Given the description of an element on the screen output the (x, y) to click on. 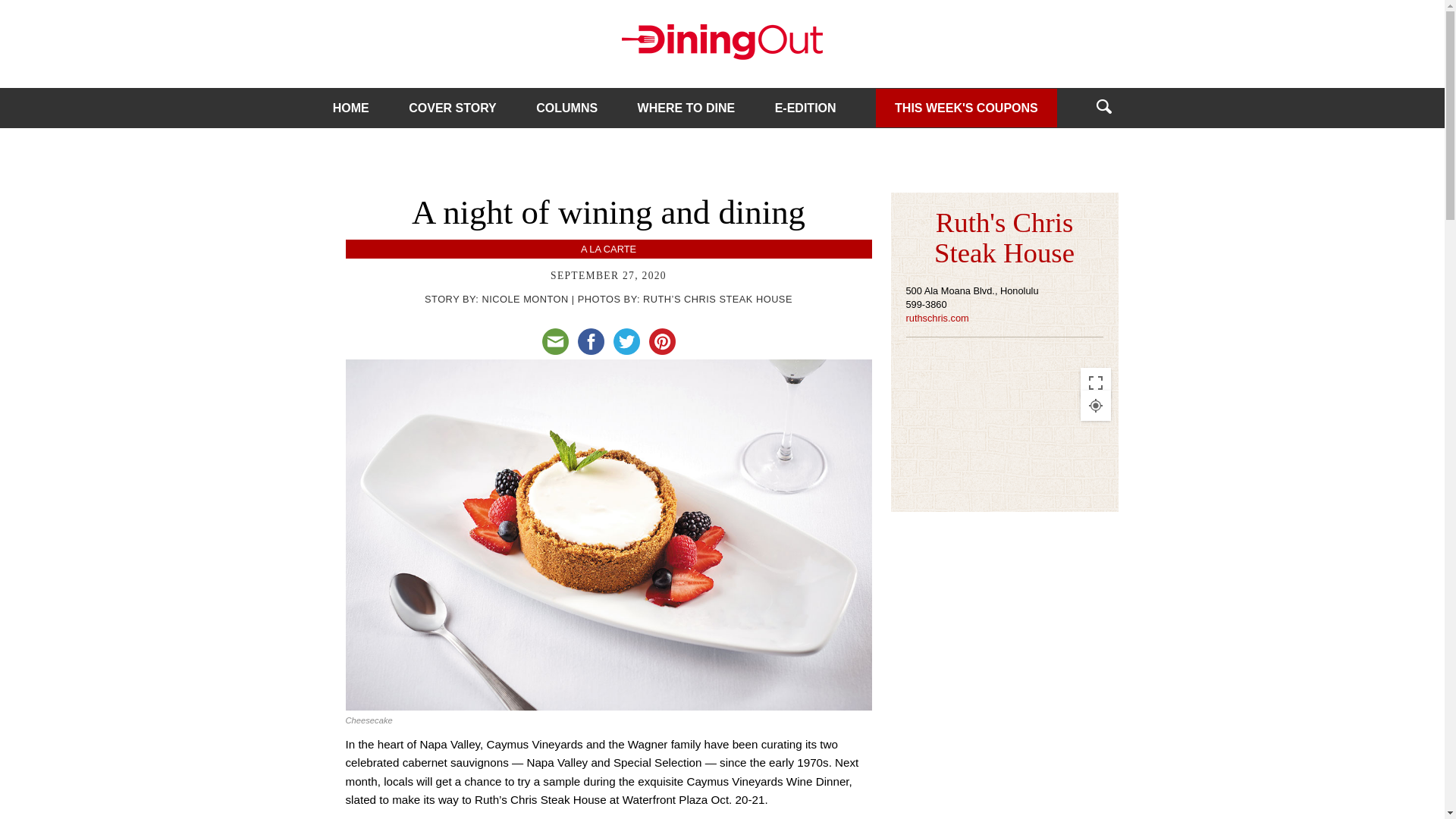
Toggle fullscreen view (1094, 382)
A La Carte (608, 248)
WHERE TO DINE (686, 107)
A LA CARTE (608, 248)
facebook (590, 341)
twitter (625, 341)
ruthschris.com (936, 317)
pinterest (662, 341)
COVER STORY (452, 107)
THIS WEEK'S COUPONS (966, 106)
email (554, 341)
HOME (351, 107)
Your Location (1094, 405)
